Given the description of an element on the screen output the (x, y) to click on. 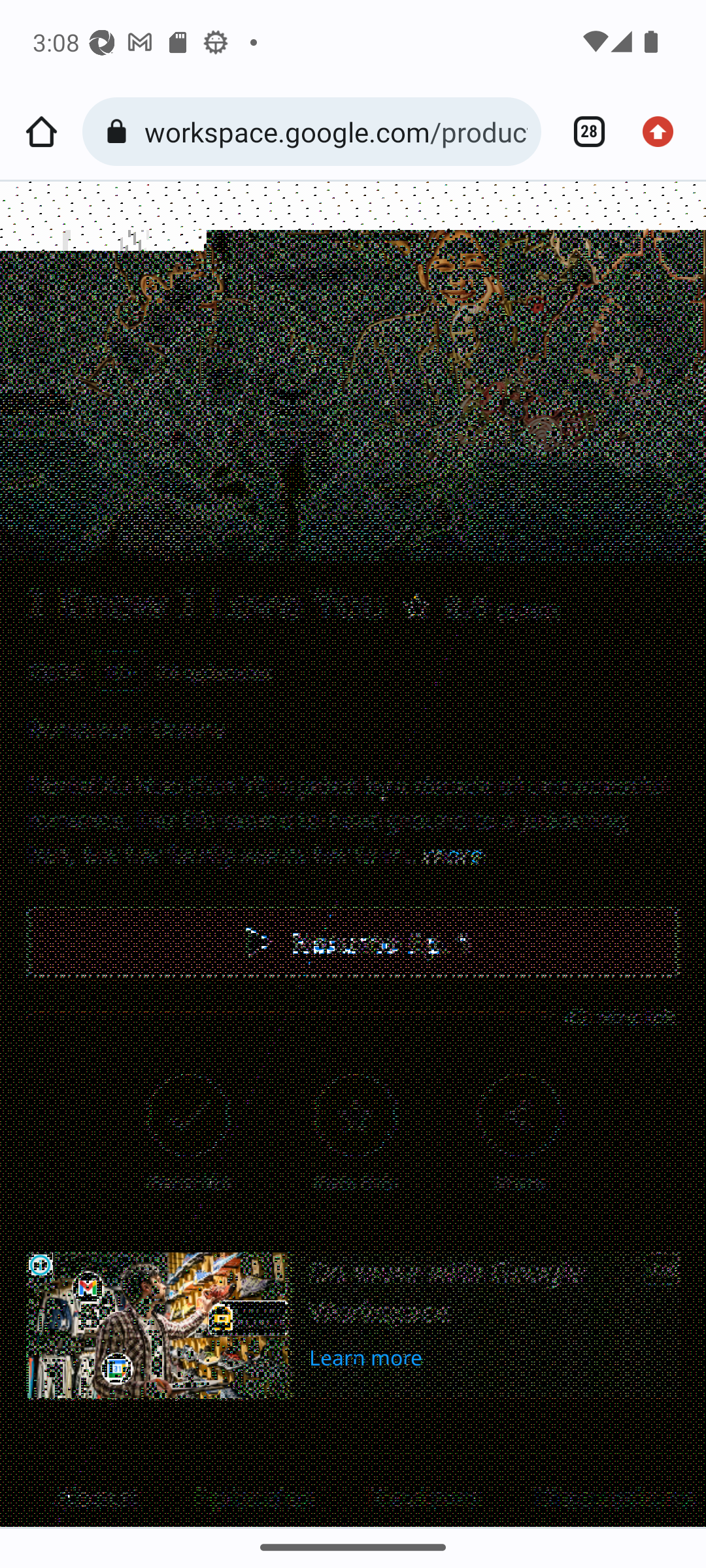
Home (41, 131)
Connection is secure (120, 131)
Switch or close tabs (582, 131)
Update available. More options (664, 131)
